Given the description of an element on the screen output the (x, y) to click on. 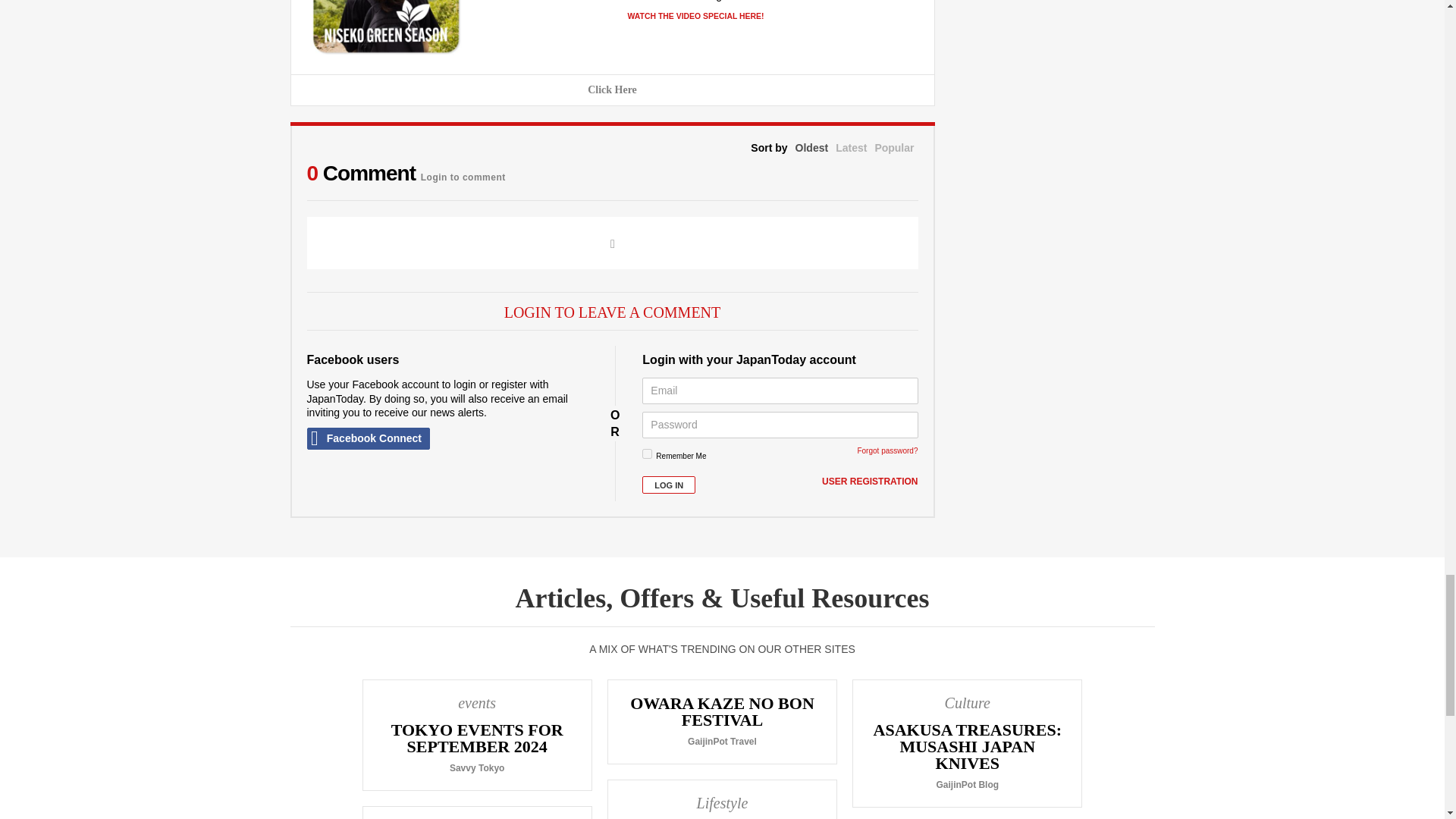
Forgot password? (887, 450)
Login to comment (462, 173)
User registration (869, 481)
Log In (668, 484)
Connect with Facebook (367, 438)
1 (647, 453)
